Given the description of an element on the screen output the (x, y) to click on. 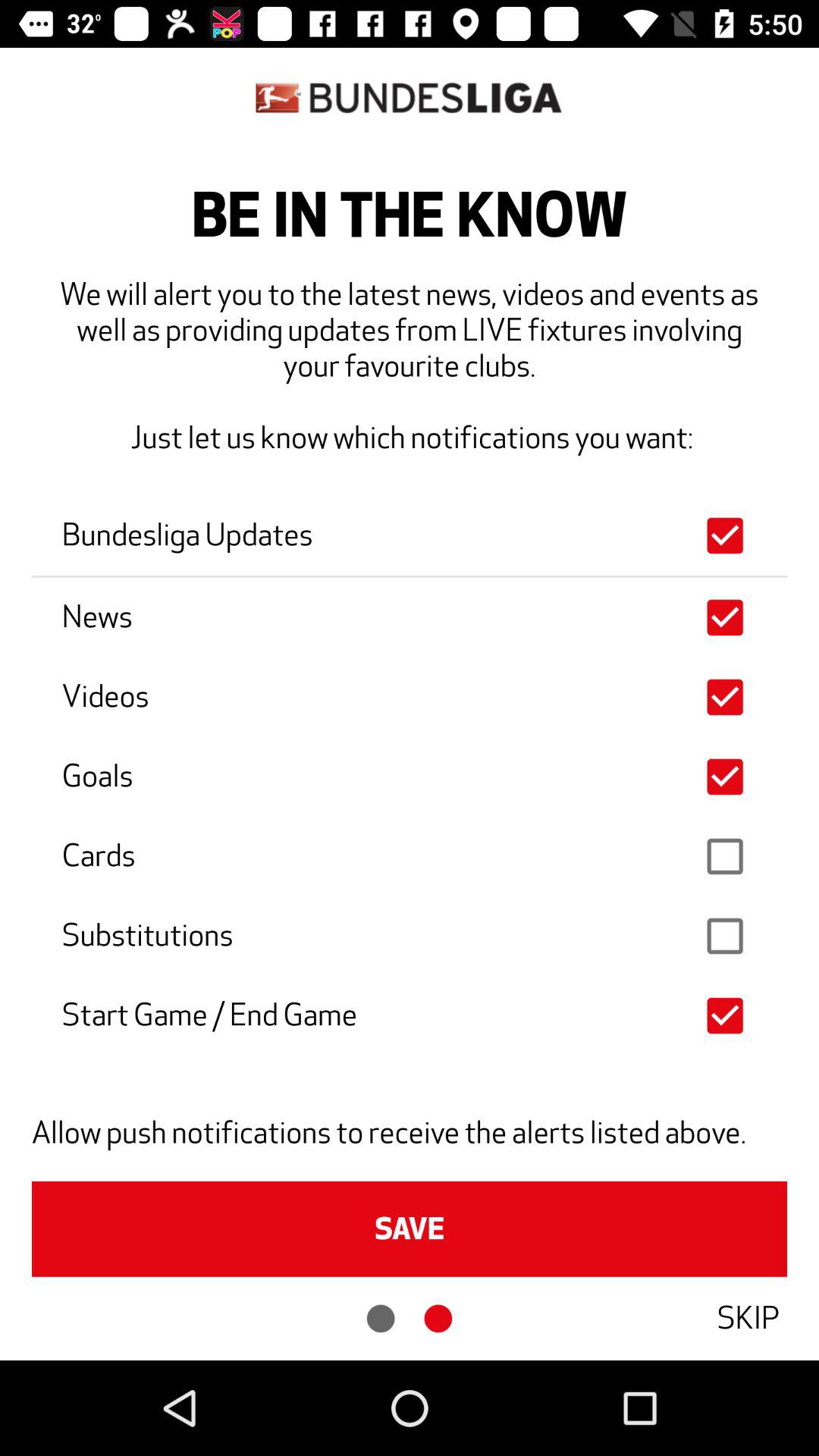
select the skip item (748, 1318)
